Given the description of an element on the screen output the (x, y) to click on. 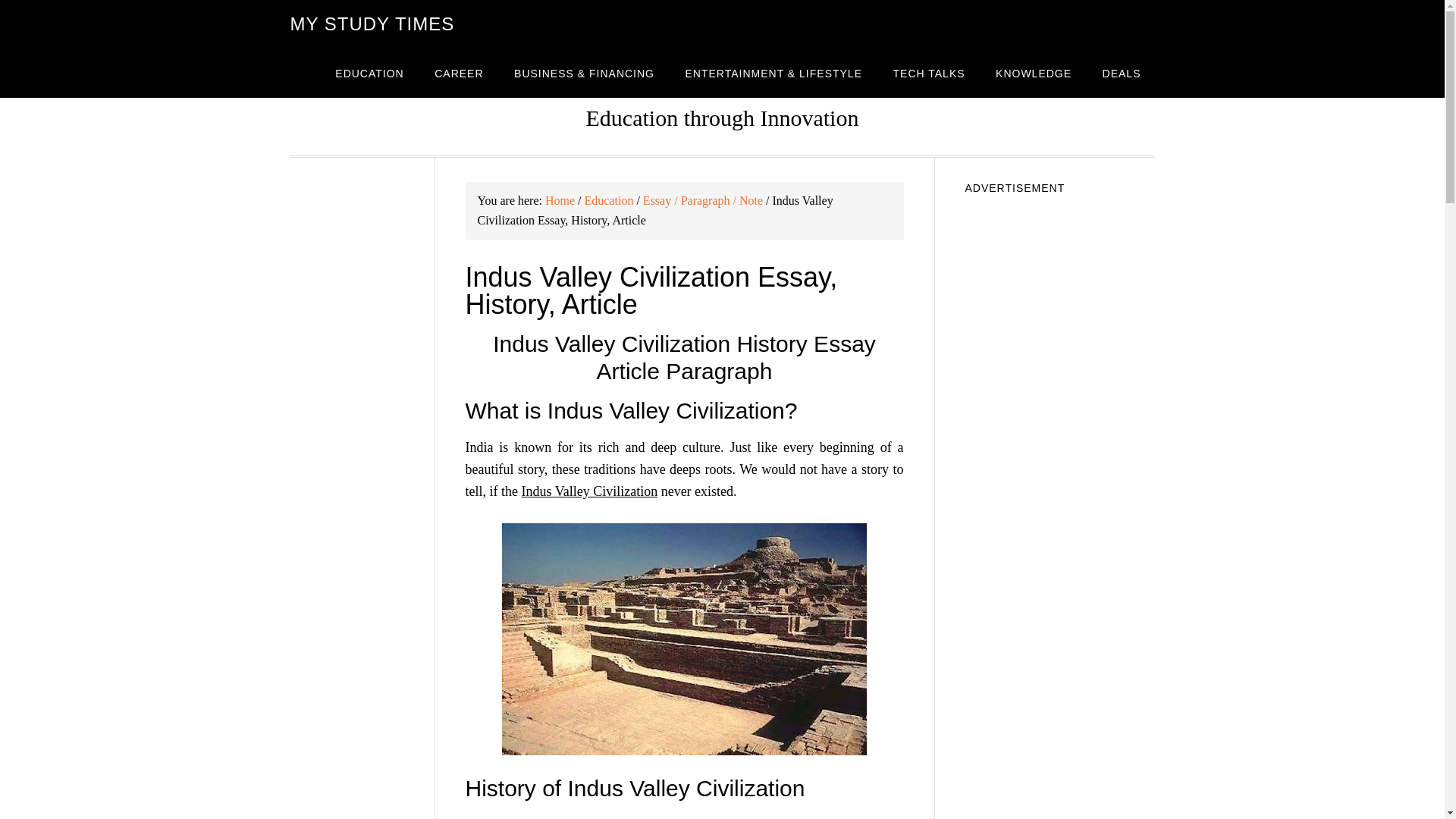
DEALS (1121, 72)
EDUCATION (368, 72)
CAREER (458, 72)
Home (559, 200)
KNOWLEDGE (1032, 72)
Indus Valley Civilization Essay, History, Article 1 (684, 639)
TECH TALKS (928, 72)
Advertisement (1058, 758)
MY STUDY TIMES (371, 23)
